Given the description of an element on the screen output the (x, y) to click on. 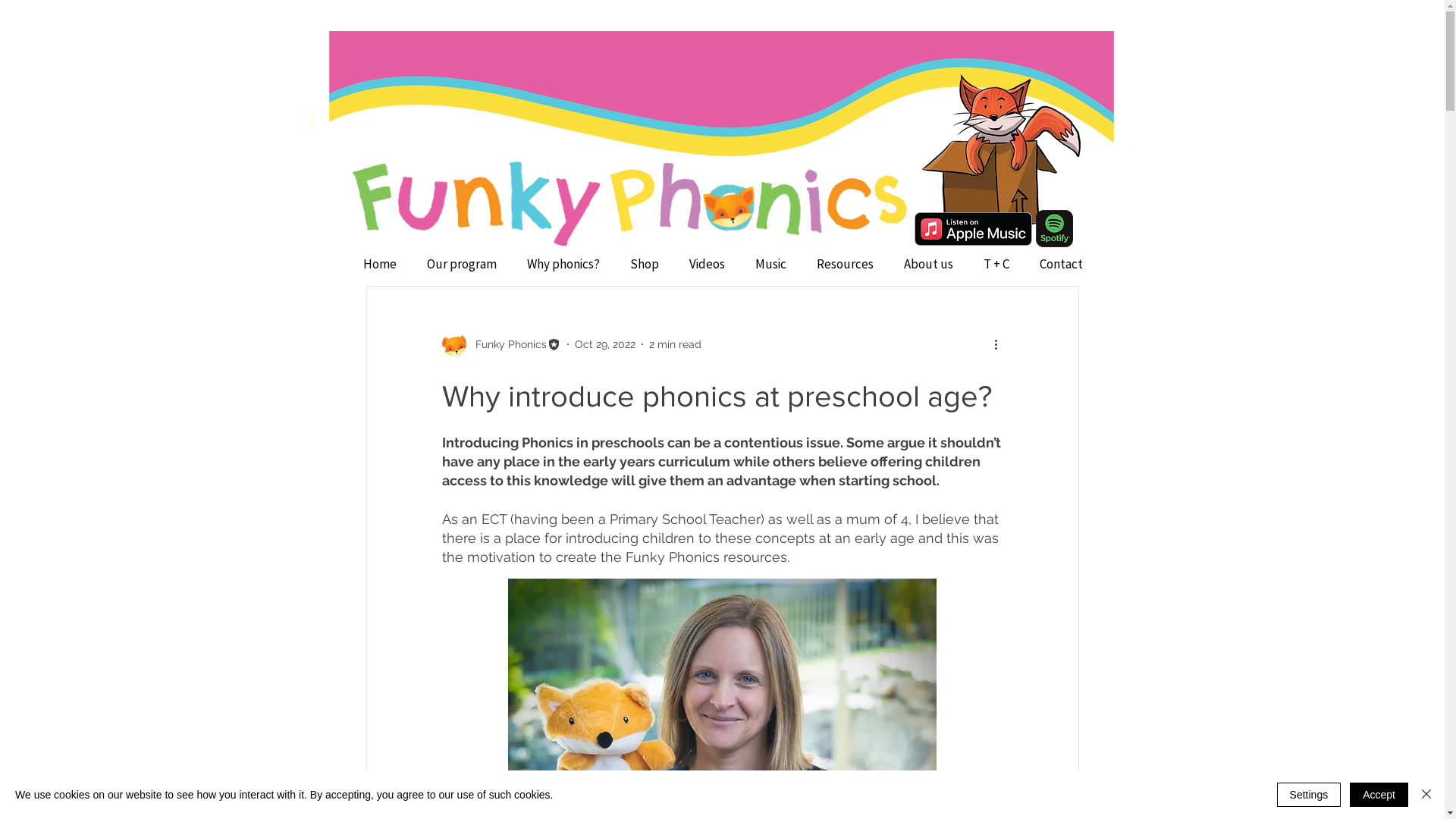
Asset 8.png Element type: hover (473, 202)
About us Element type: text (928, 263)
Resources Element type: text (844, 263)
Shop Element type: text (644, 263)
Why introduce phonics at preschool age? Element type: text (716, 395)
T + C Element type: text (996, 263)
SPOTIFY.png Element type: hover (1054, 228)
Accept Element type: text (1378, 794)
Music Element type: text (770, 263)
Asset 22_2x.png Element type: hover (721, 93)
Why phonics? Element type: text (562, 263)
Home Element type: text (380, 263)
Videos Element type: text (707, 263)
APPLE MUSIC.png Element type: hover (973, 228)
Contact Element type: text (1061, 263)
Settings Element type: text (1309, 794)
Our program Element type: text (461, 263)
Asset 9.png Element type: hover (760, 202)
